Given the description of an element on the screen output the (x, y) to click on. 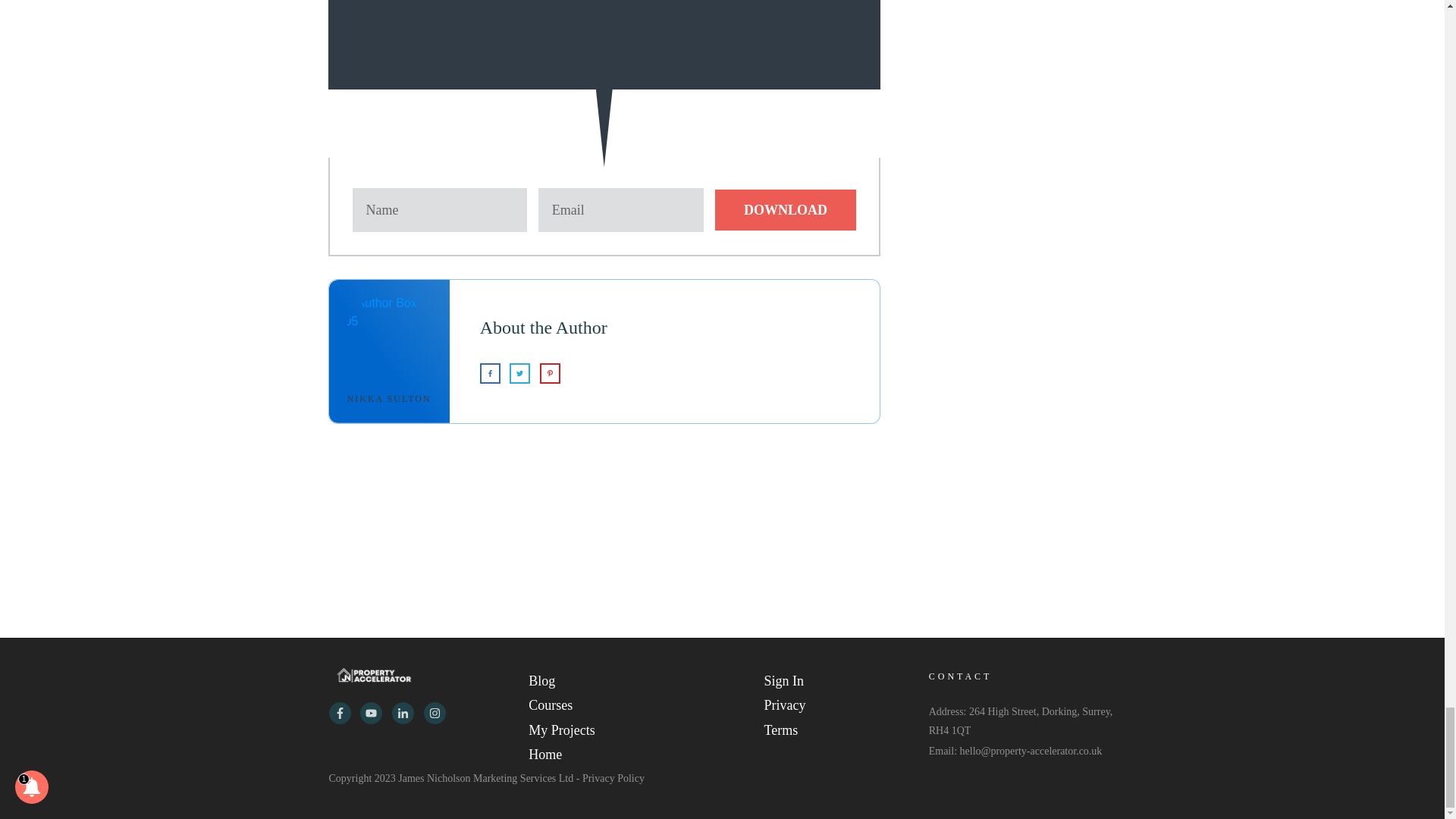
DOWNLOAD (785, 209)
NIKKA SULTON (388, 398)
